Given the description of an element on the screen output the (x, y) to click on. 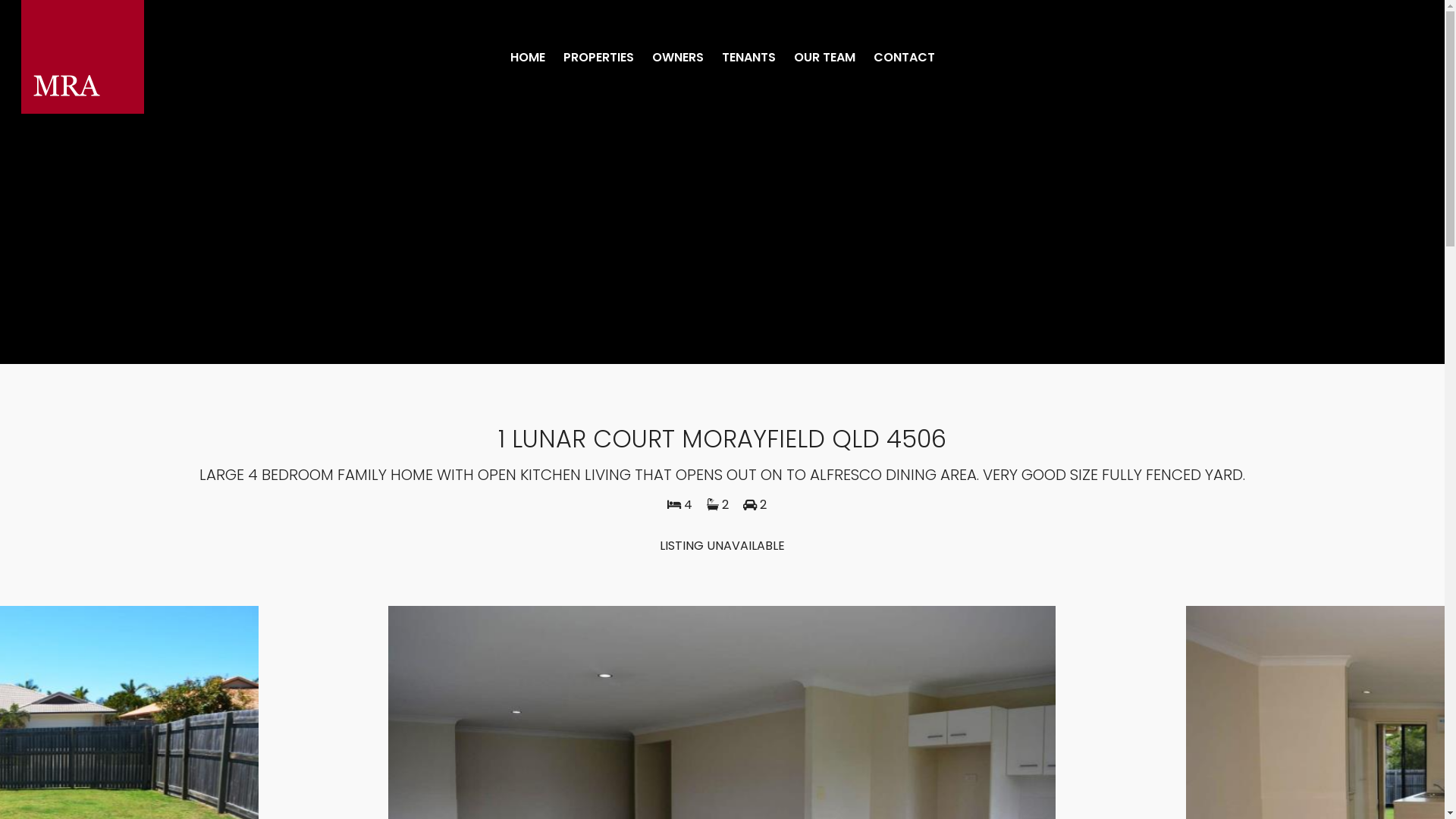
OUR TEAM Element type: text (823, 57)
HOME Element type: text (526, 57)
PROPERTIES Element type: text (597, 57)
CONTACT Element type: text (904, 57)
OWNERS Element type: text (677, 57)
TENANTS Element type: text (748, 57)
